Given the description of an element on the screen output the (x, y) to click on. 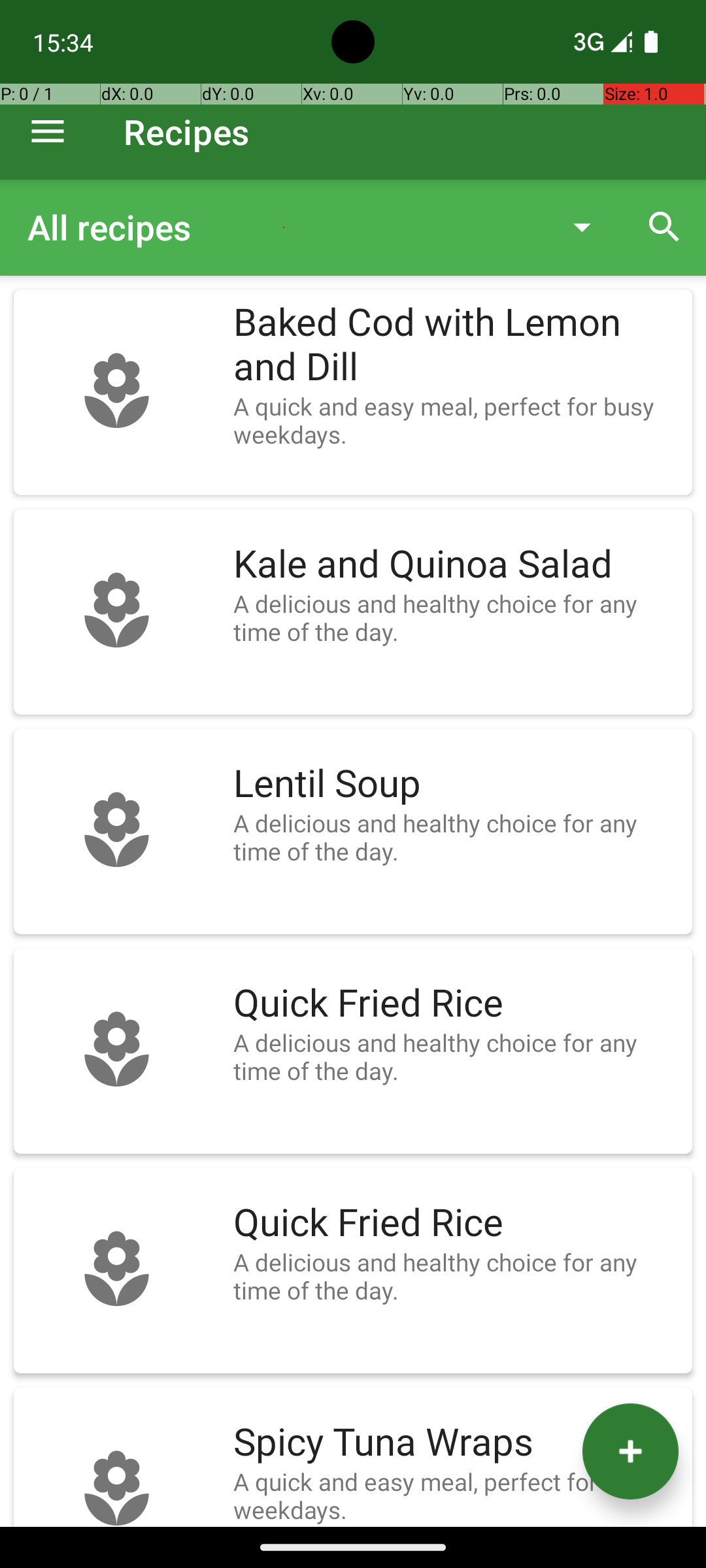
Spicy Tuna Wraps Element type: android.widget.TextView (455, 1442)
